Given the description of an element on the screen output the (x, y) to click on. 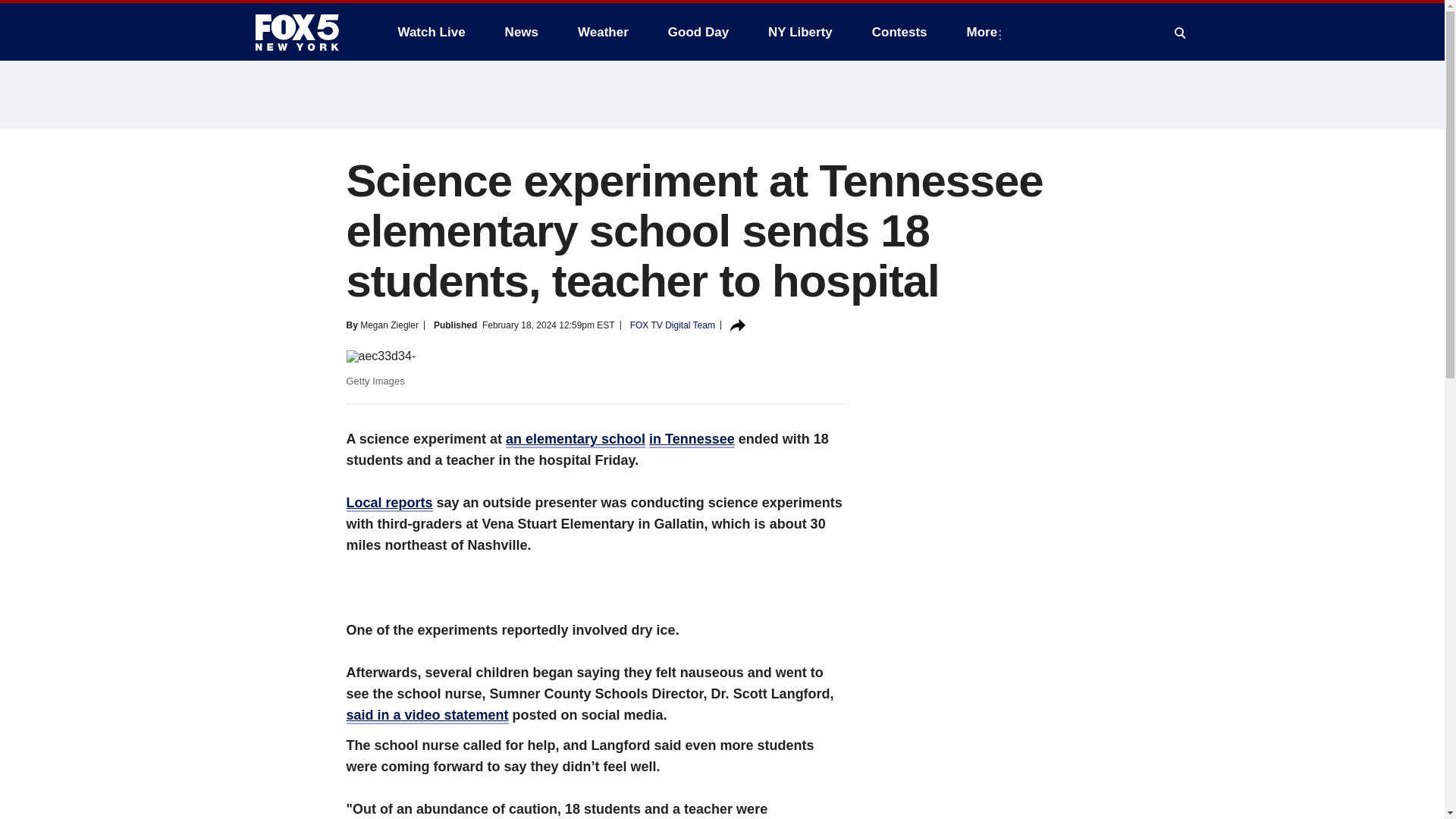
Good Day (698, 32)
Contests (899, 32)
Weather (603, 32)
News (521, 32)
More (985, 32)
Watch Live (431, 32)
NY Liberty (799, 32)
